Given the description of an element on the screen output the (x, y) to click on. 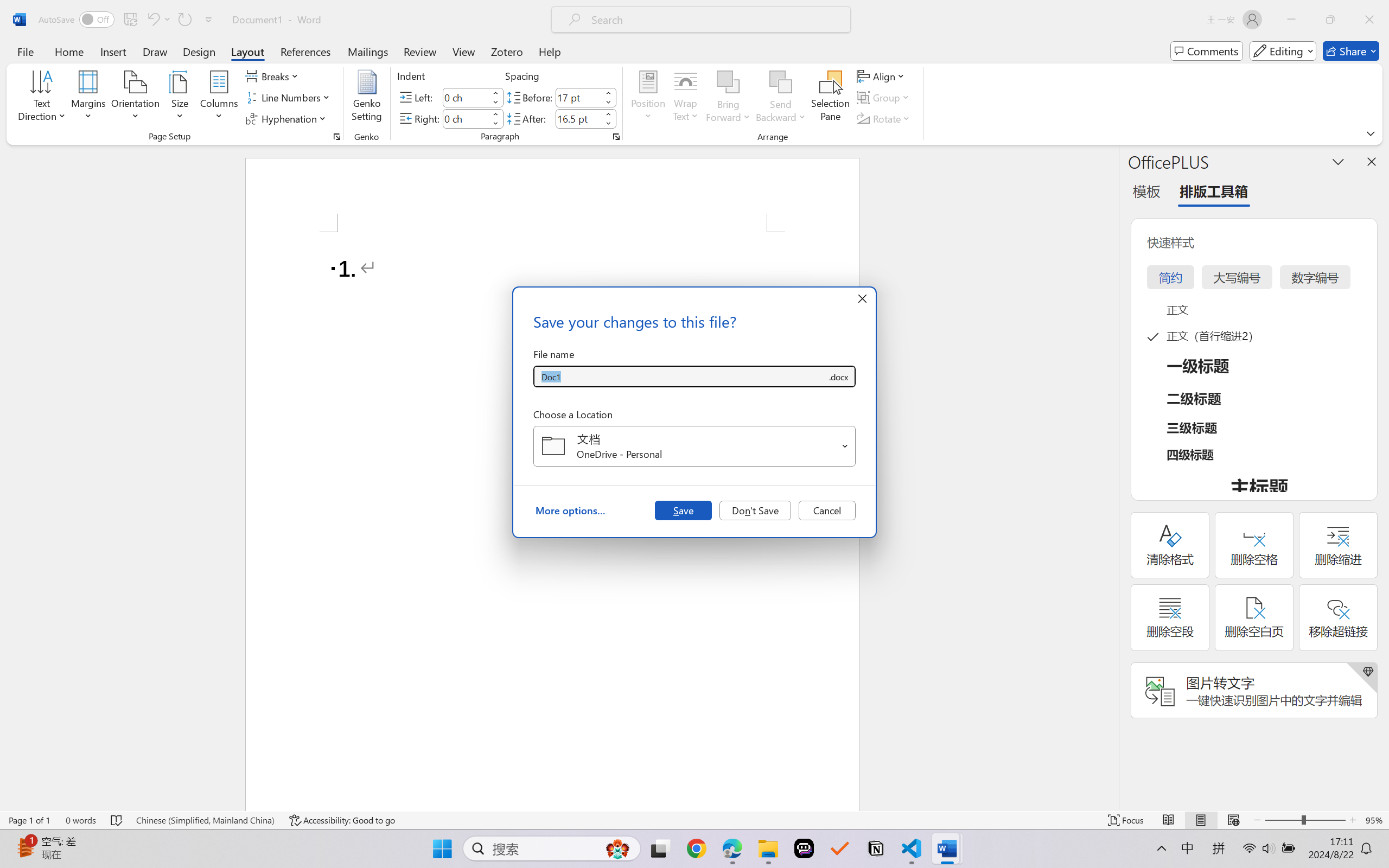
Size (180, 97)
Selection Pane... (830, 97)
Microsoft search (715, 19)
Text Direction (42, 97)
Orientation (135, 97)
Google Chrome (696, 848)
Cancel (826, 509)
